Given the description of an element on the screen output the (x, y) to click on. 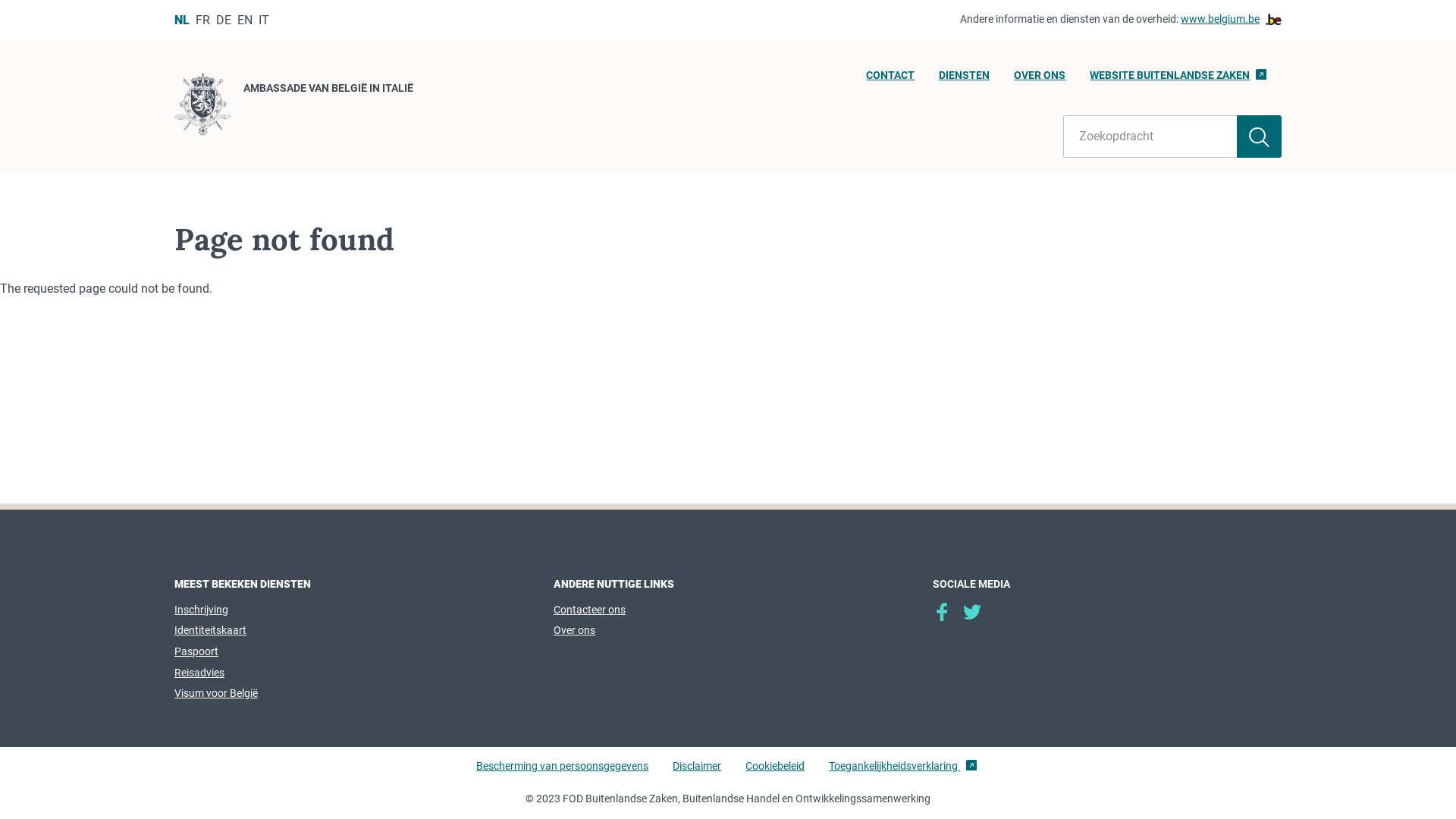
Over ons Element type: text (574, 630)
WEBSITE BUITENLANDSE ZAKEN Element type: text (1177, 79)
OVER ONS Element type: text (1039, 79)
DE Element type: text (223, 19)
Disclaimer Element type: text (696, 772)
Paspoort Element type: text (196, 651)
Filteren Element type: text (1258, 136)
Skip to main content Element type: text (7, 4)
Identiteitskaart Element type: text (210, 630)
Inschrijving Element type: text (201, 609)
Contacteer ons Element type: text (589, 609)
Bescherming van persoonsgegevens Element type: text (562, 772)
NL Element type: text (181, 19)
Belgium in Rome Element type: text (972, 611)
EN Element type: text (244, 19)
FR Element type: text (202, 19)
Reisadvies Element type: text (199, 672)
DIENSTEN Element type: text (963, 79)
Zoekopdracht Element type: hover (1149, 136)
IT Element type: text (263, 19)
Toegankelijkheidsverklaring Element type: text (902, 772)
www.belgium.be Element type: text (1230, 19)
CONTACT Element type: text (889, 79)
Cookiebeleid Element type: text (774, 772)
